Given the description of an element on the screen output the (x, y) to click on. 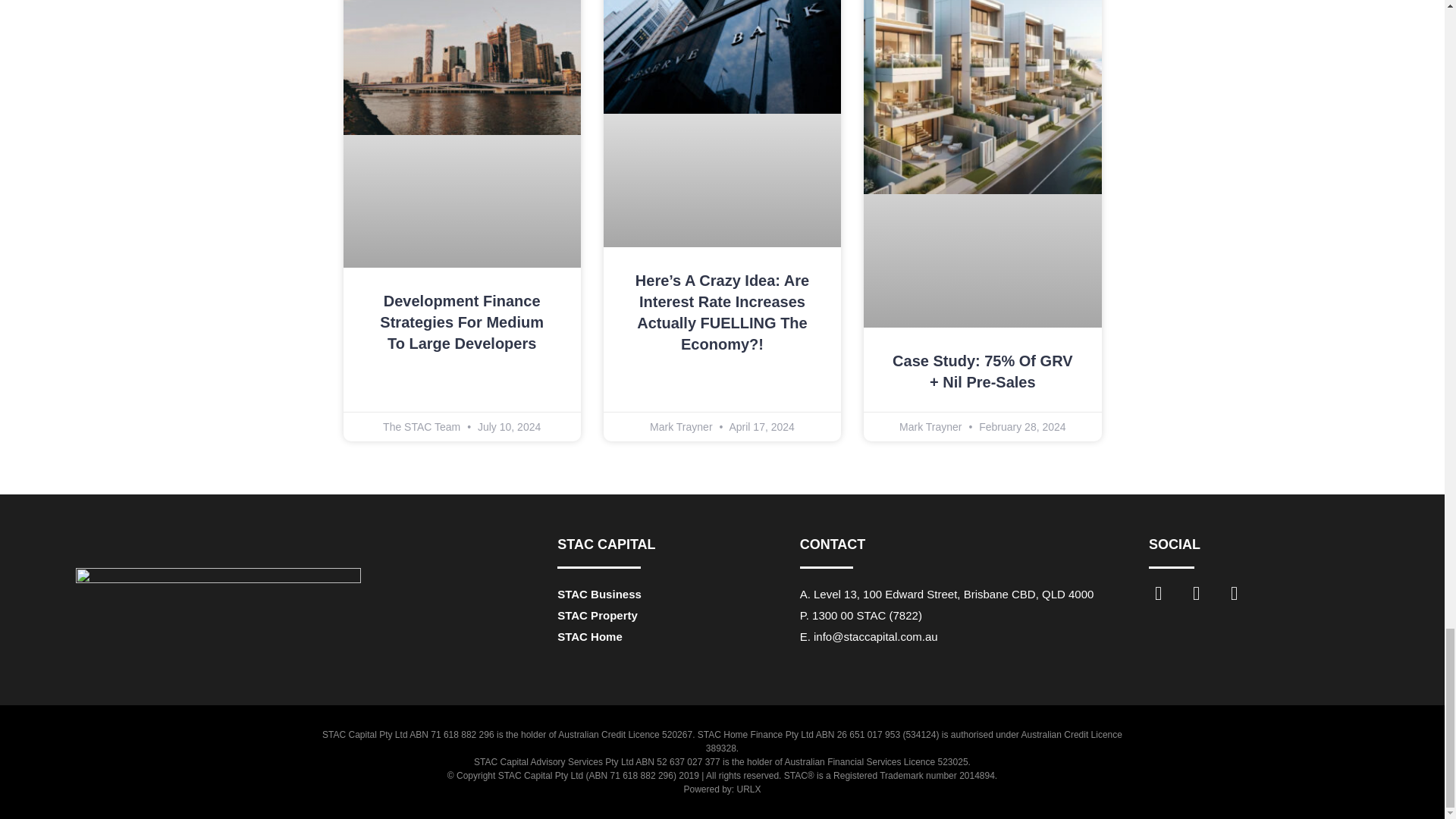
STAC Business (599, 594)
Linkedin-in (1243, 602)
STAC Property (597, 615)
Facebook-f (1167, 602)
STAC Home (590, 635)
URLX (748, 788)
Instagram (1205, 602)
